Given the description of an element on the screen output the (x, y) to click on. 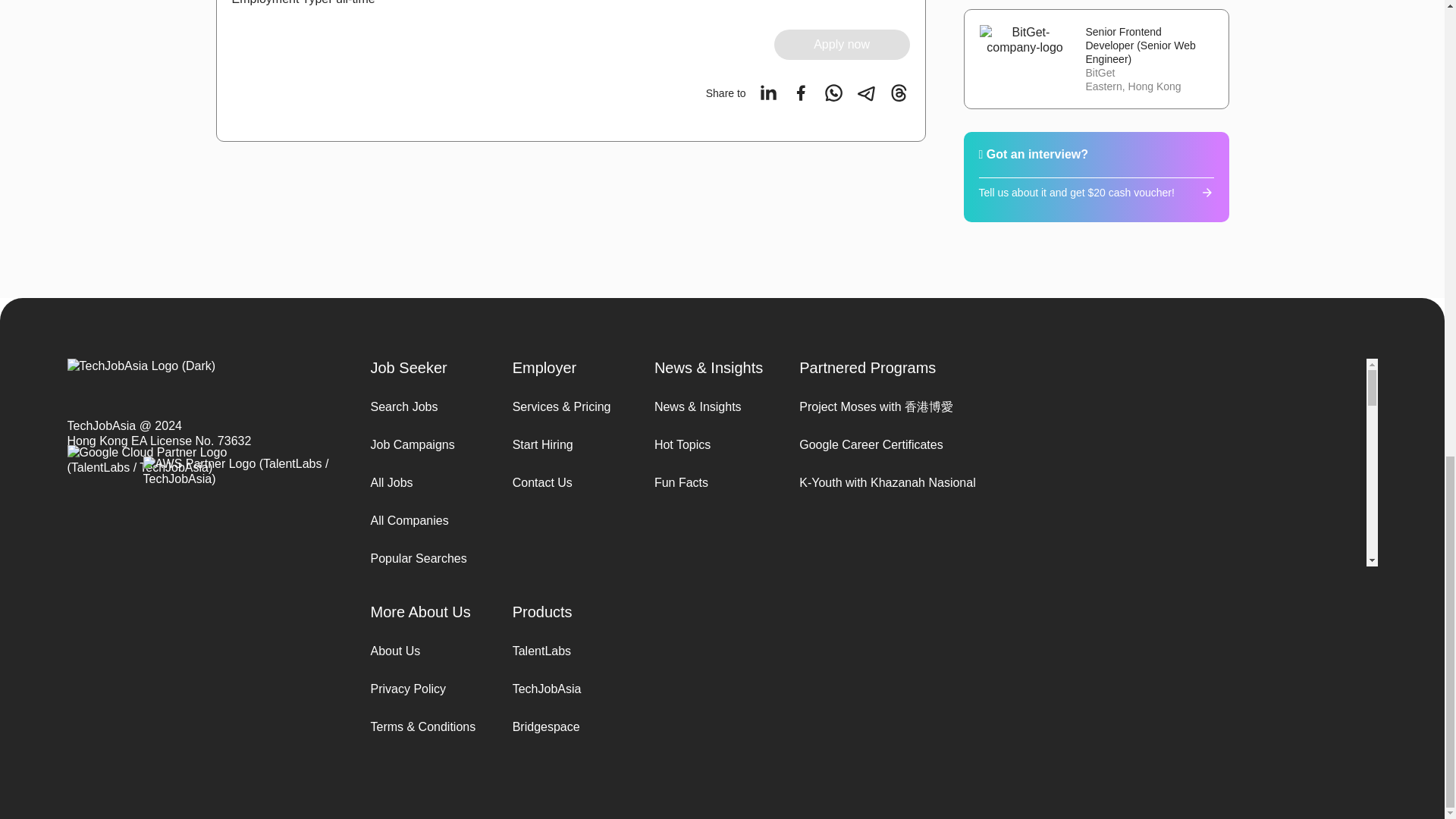
Popular Searches (422, 558)
Contact Us (564, 482)
Job Campaigns (422, 444)
Start Hiring (564, 444)
Apply now (842, 44)
All Companies (422, 520)
All Jobs (422, 482)
Search Jobs (422, 406)
